Given the description of an element on the screen output the (x, y) to click on. 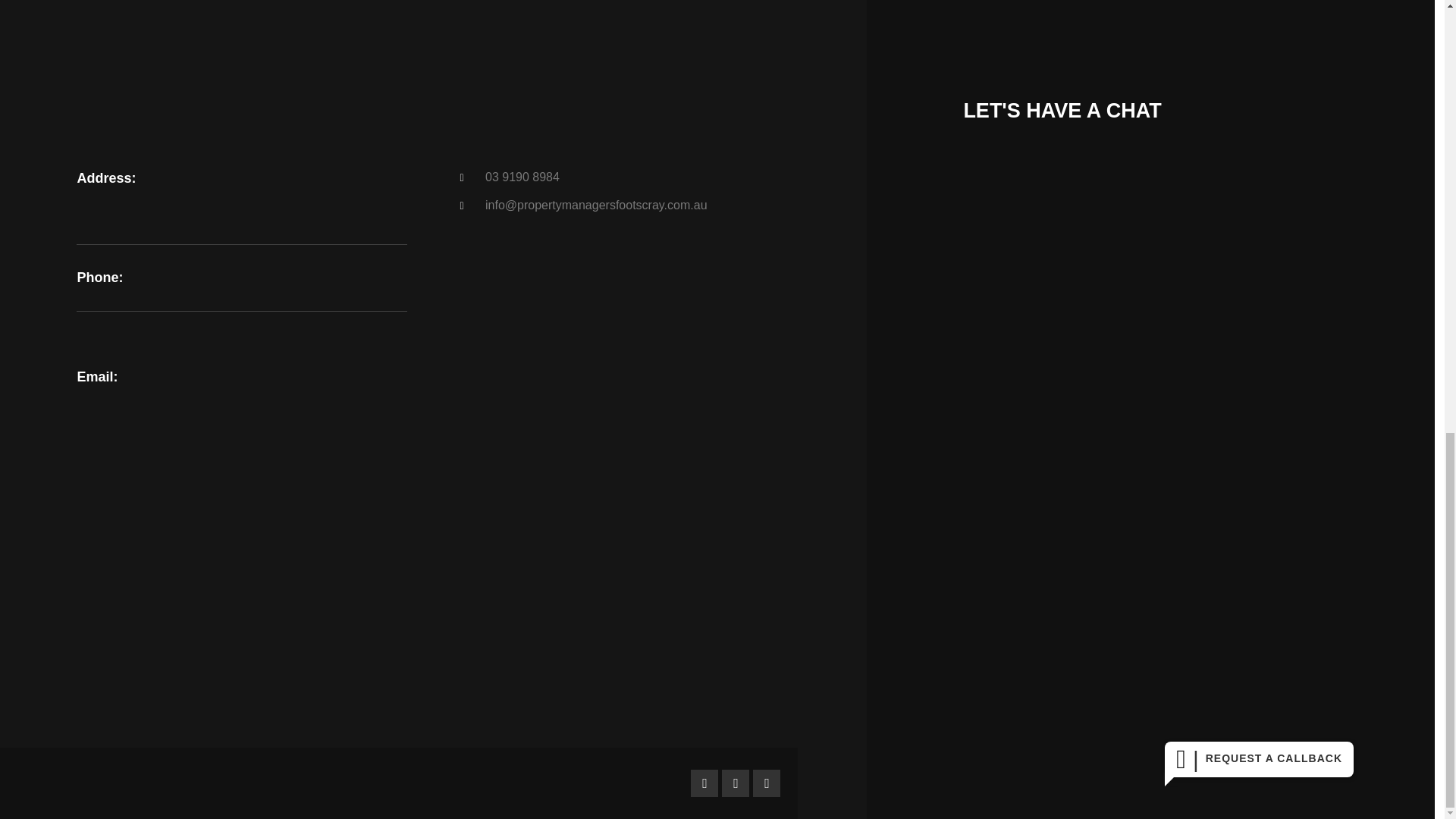
90 Maribyrnong Street, Footscray, VIC, 3011. (432, 588)
03 9190 8984 (624, 178)
